Given the description of an element on the screen output the (x, y) to click on. 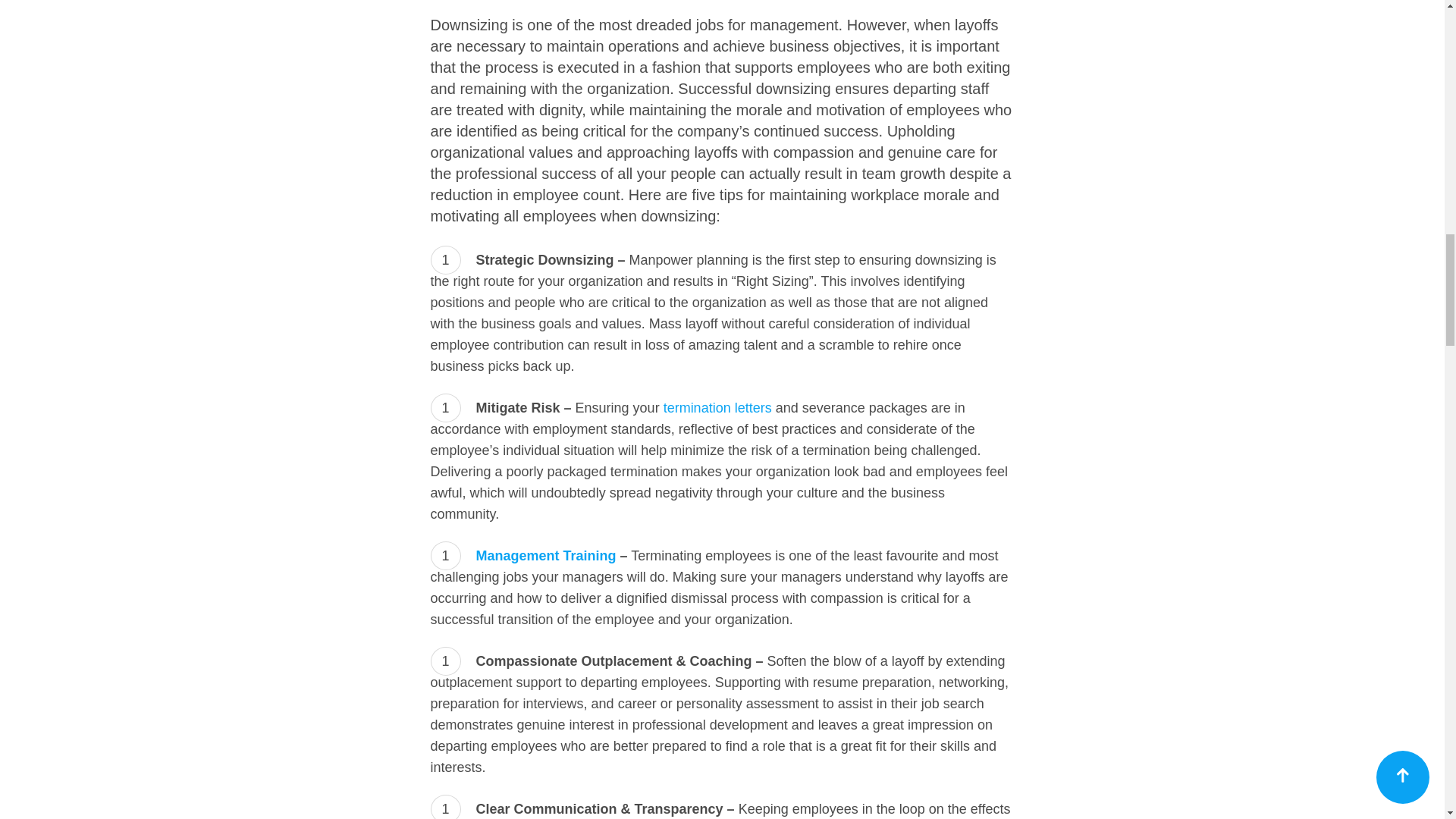
Termination Letters and Guide (717, 407)
